Given the description of an element on the screen output the (x, y) to click on. 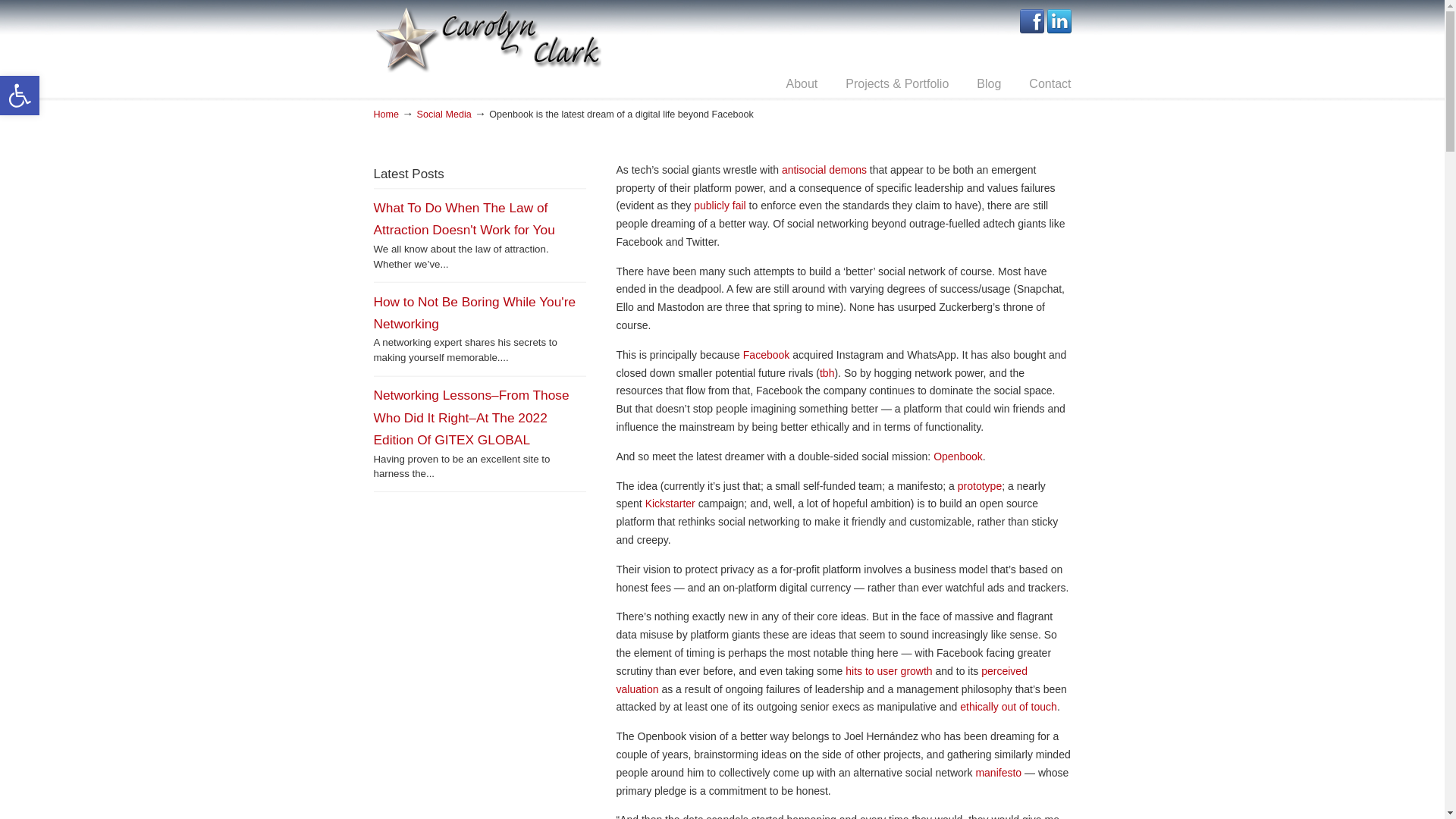
Openbook (957, 456)
manifesto (998, 772)
tbh (826, 372)
What To Do When The Law of Attraction Doesn't Work for You (463, 218)
Blog (988, 83)
antisocial demons (823, 169)
Home (385, 113)
publicly fail  (19, 95)
Accessibility Tools (721, 205)
prototype (19, 95)
Kickstarter (979, 485)
Social Media (670, 503)
About (443, 113)
Contact (801, 83)
